Given the description of an element on the screen output the (x, y) to click on. 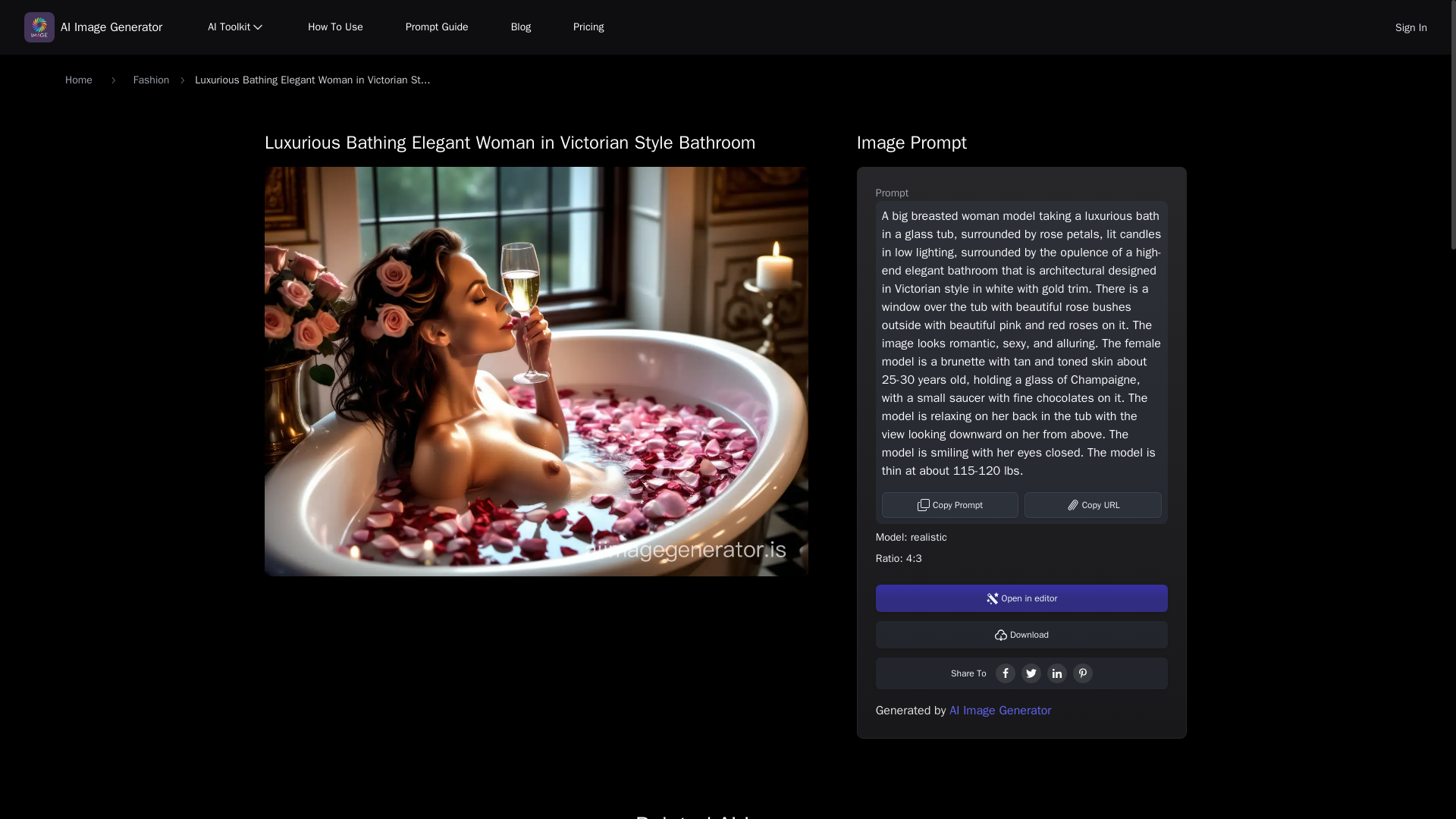
AI Image Generator (93, 26)
Pricing (588, 26)
Blog (521, 26)
Prompt Guide (436, 26)
Sign In (1410, 27)
How To Use (335, 26)
Home (79, 79)
Copy Prompt (950, 504)
Fashion (151, 79)
Copy URL (1093, 504)
